Given the description of an element on the screen output the (x, y) to click on. 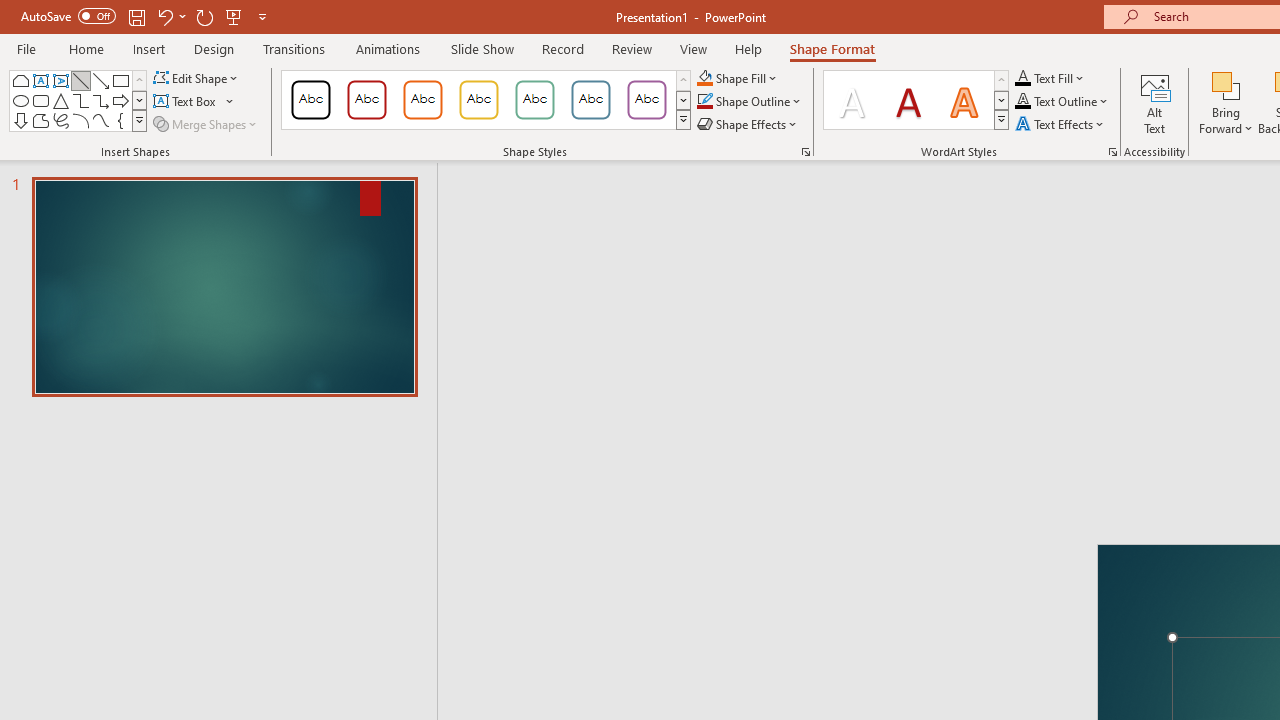
Draw Horizontal Text Box (185, 101)
Bring Forward (1225, 102)
Curve (100, 120)
AutomationID: TextStylesGallery (916, 99)
